Given the description of an element on the screen output the (x, y) to click on. 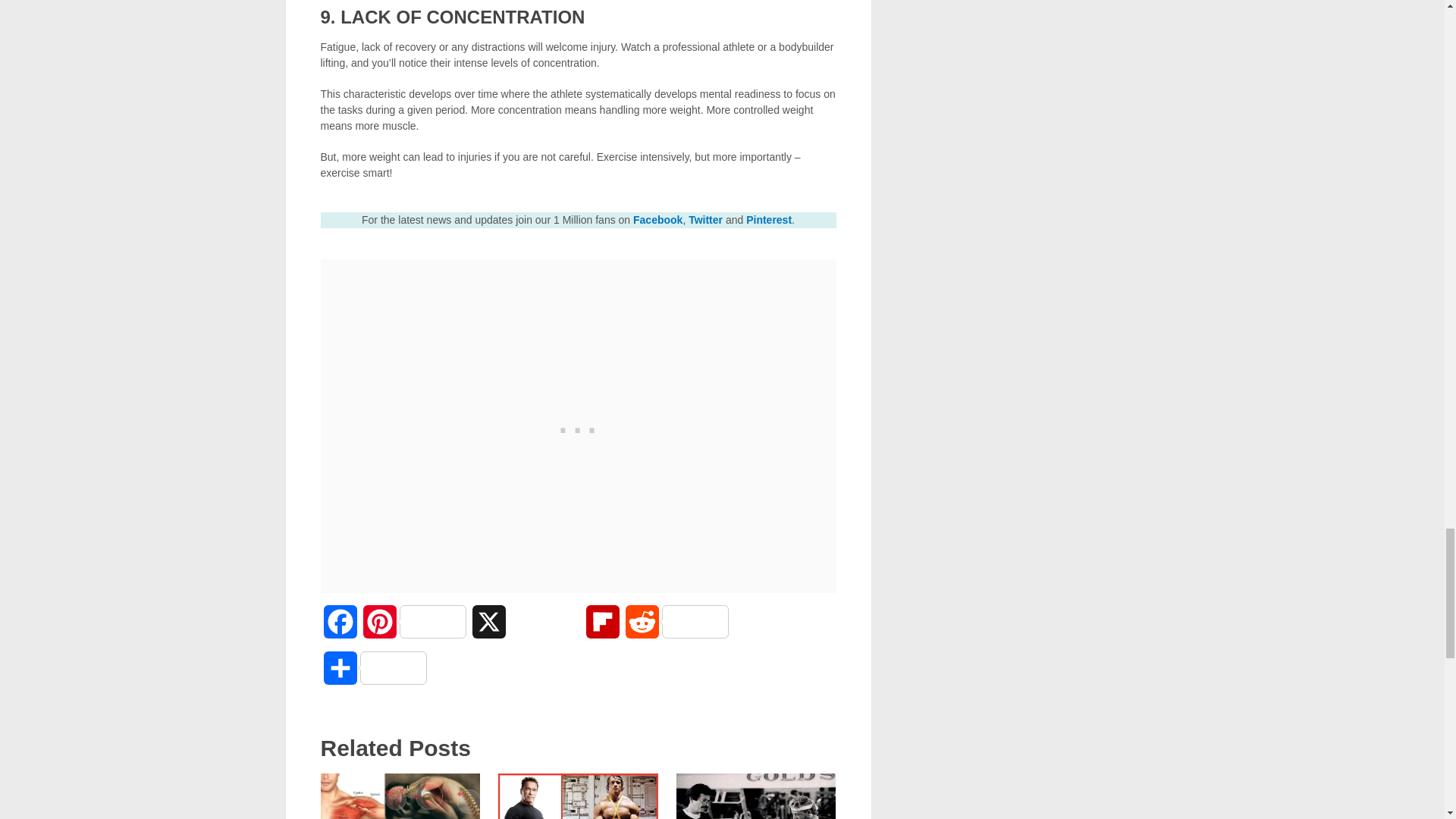
Reddit (675, 628)
Is Training to Failure Each Time Necessary ? (756, 796)
Pinterest (413, 628)
How to Use Controlled Overtraining for Muscle Growth (400, 796)
Arnold Schwarzenegger: Do You Train Too Hard? (577, 796)
